Given the description of an element on the screen output the (x, y) to click on. 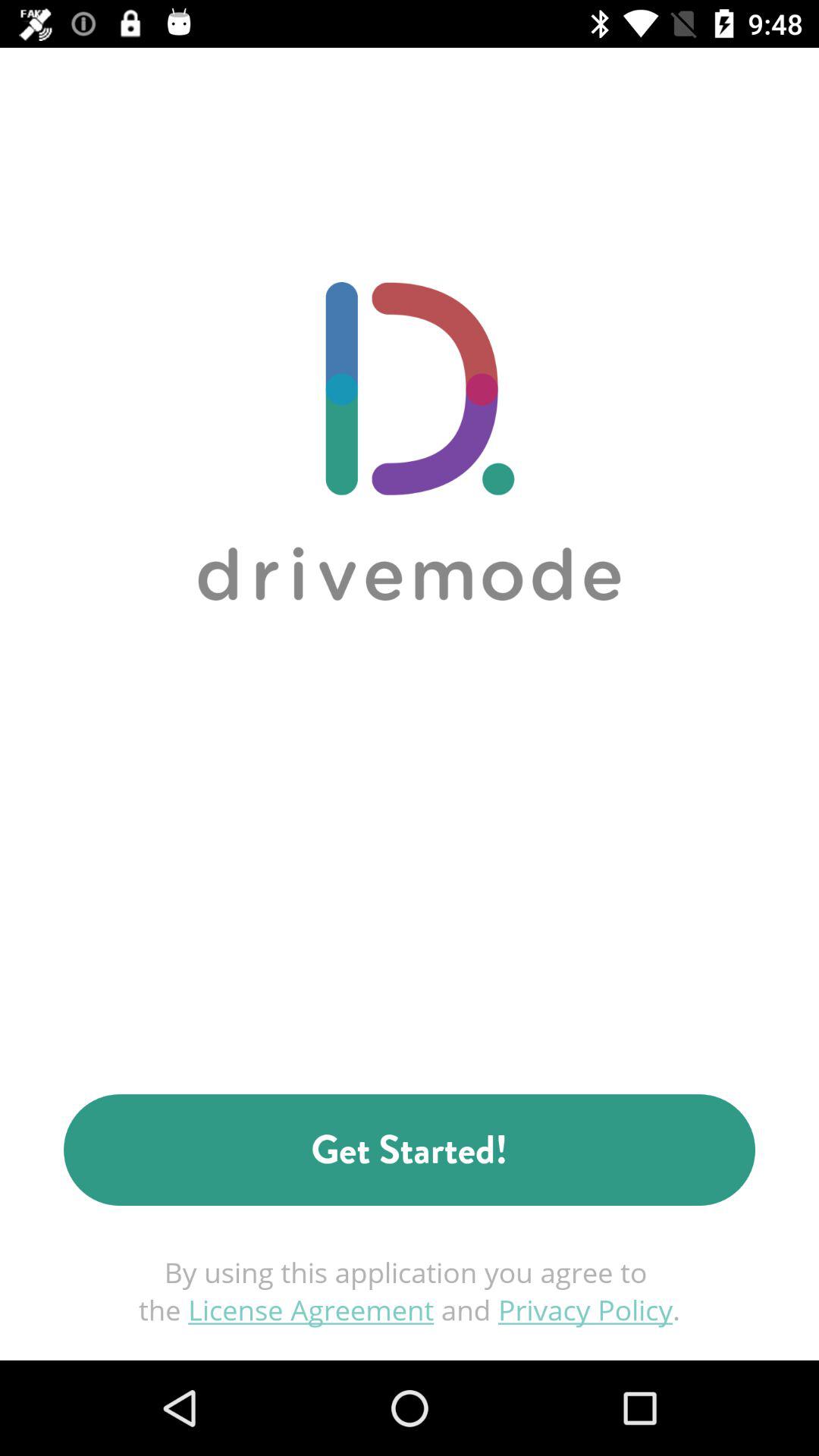
tap item above by using this (409, 1149)
